Given the description of an element on the screen output the (x, y) to click on. 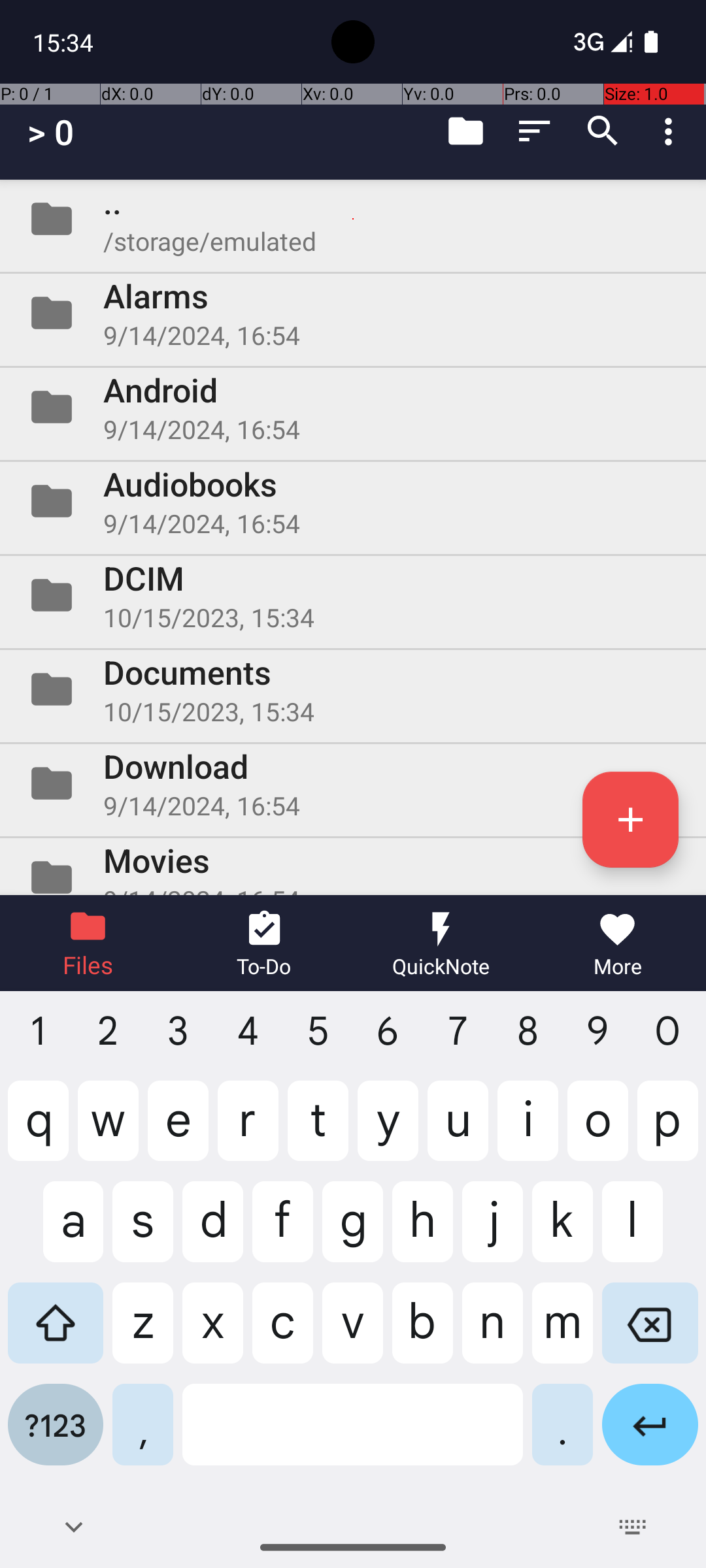
> 0 Element type: android.widget.TextView (50, 131)
Folder .. /storage/emulated/0 Element type: android.widget.LinearLayout (353, 218)
Folder Alarms 9/14/2024, 17:19 Element type: android.widget.LinearLayout (353, 312)
Folder Android 10/15/2023, 15:34 Element type: android.widget.LinearLayout (353, 406)
Folder Audiobooks 9/14/2024, 16:54 Element type: android.widget.LinearLayout (353, 500)
Folder DCIM 9/14/2024, 16:54 Element type: android.widget.LinearLayout (353, 594)
Folder Documents  Element type: android.widget.LinearLayout (353, 689)
Folder Download  Element type: android.widget.LinearLayout (353, 783)
Folder Movies  Element type: android.widget.LinearLayout (353, 866)
